Given the description of an element on the screen output the (x, y) to click on. 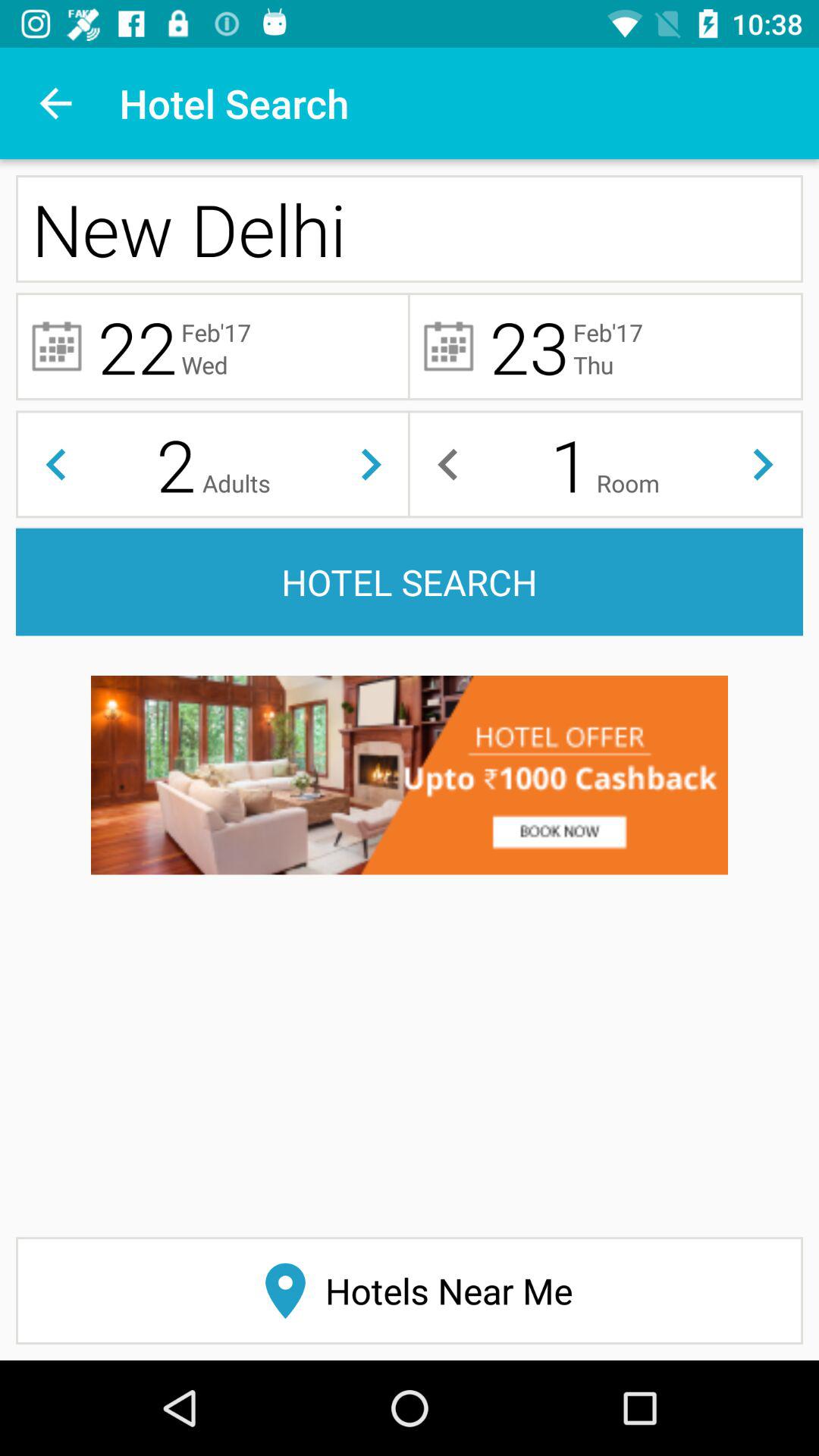
click to increase room (763, 464)
